Given the description of an element on the screen output the (x, y) to click on. 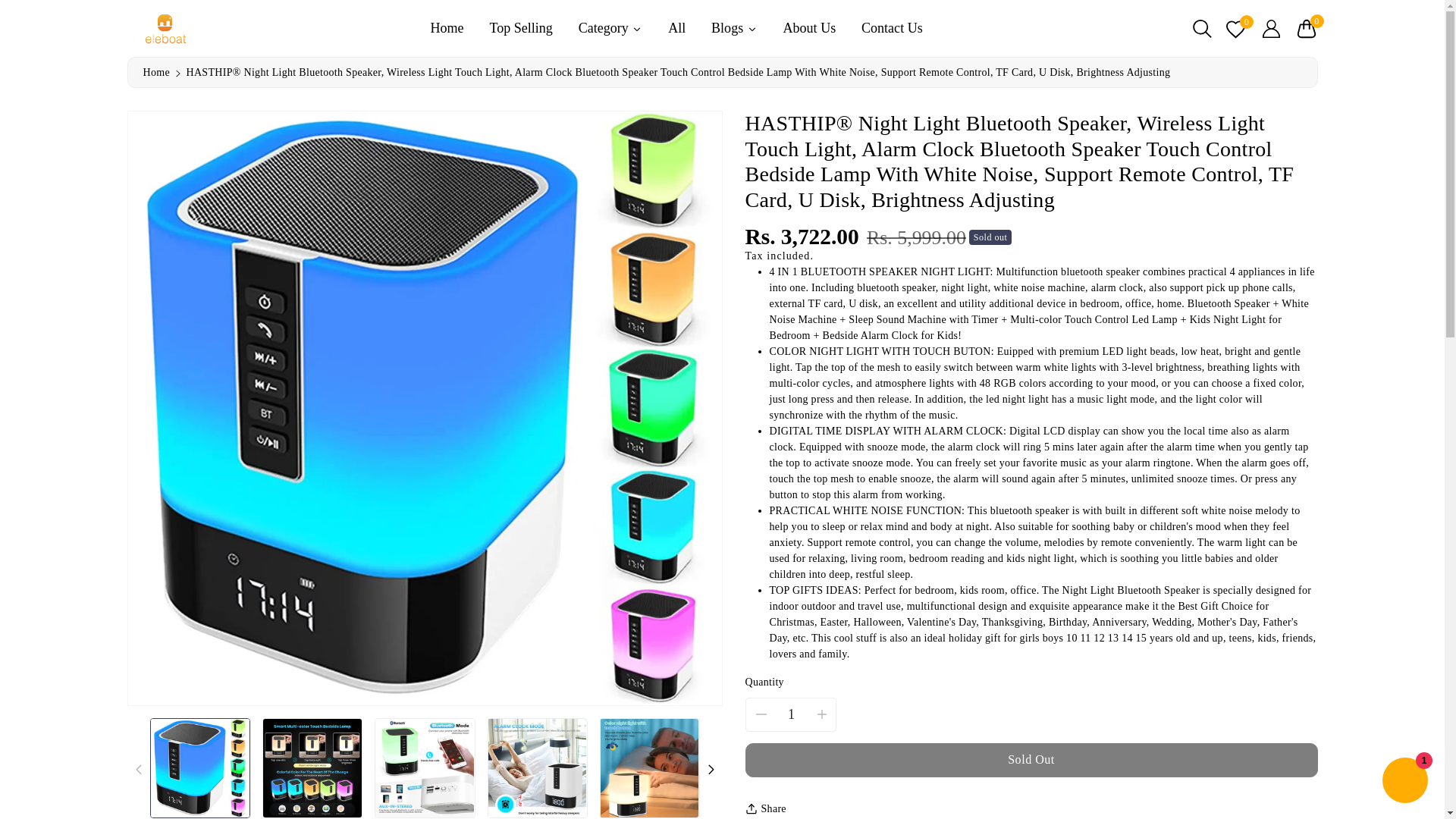
Home (155, 71)
About Us (809, 28)
Blogs (734, 28)
Top Selling (520, 28)
Contact Us (892, 28)
1 (791, 714)
Skip To Content (9, 6)
Category (610, 28)
